Given the description of an element on the screen output the (x, y) to click on. 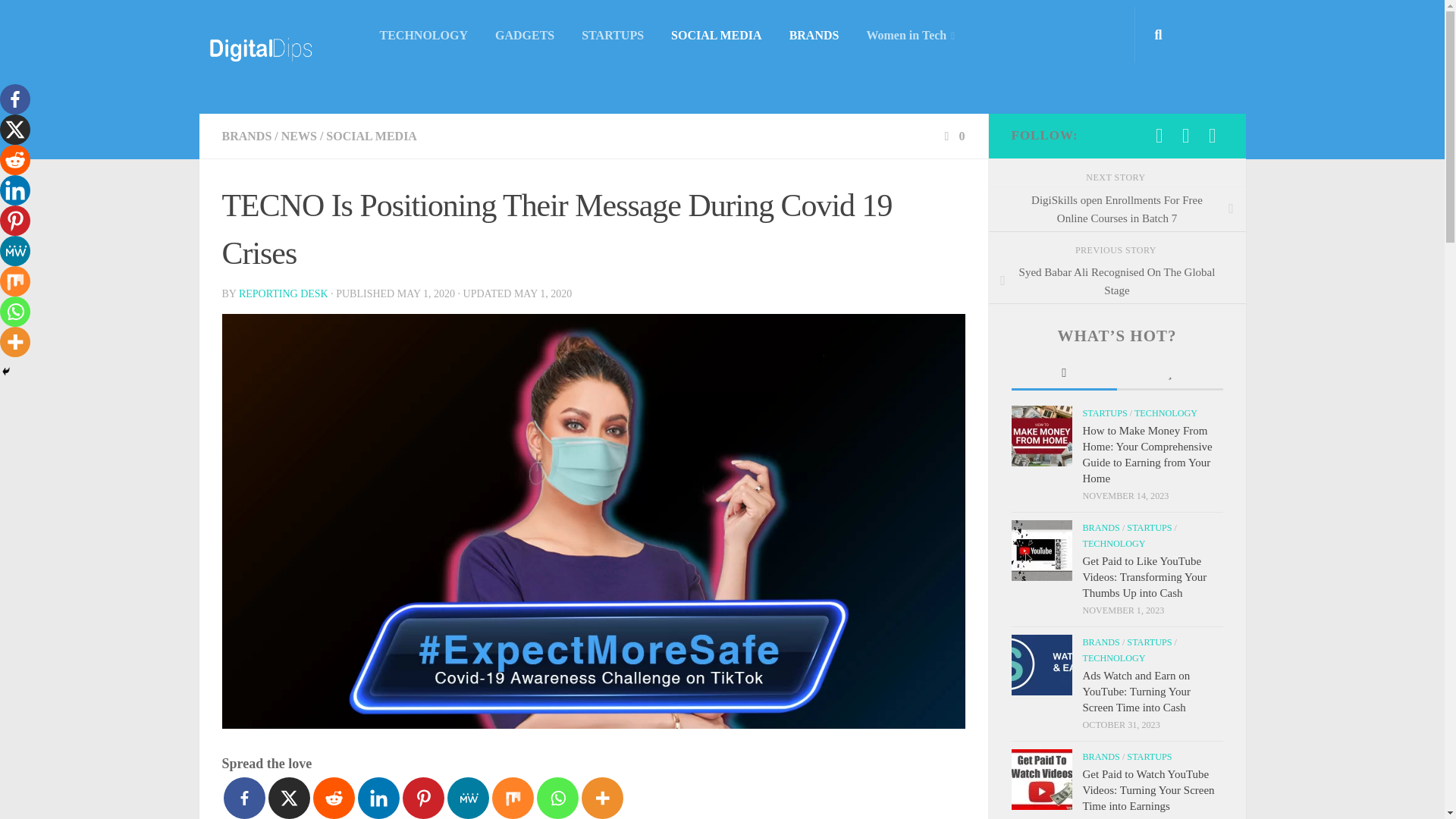
NEWS (299, 135)
Linkedin (15, 190)
MeWe (467, 798)
Whatsapp (557, 798)
MeWe (15, 250)
REPORTING DESK (283, 293)
STARTUPS (612, 35)
Posts by Reporting Desk (283, 293)
Mix (512, 798)
Reddit (15, 159)
